Given the description of an element on the screen output the (x, y) to click on. 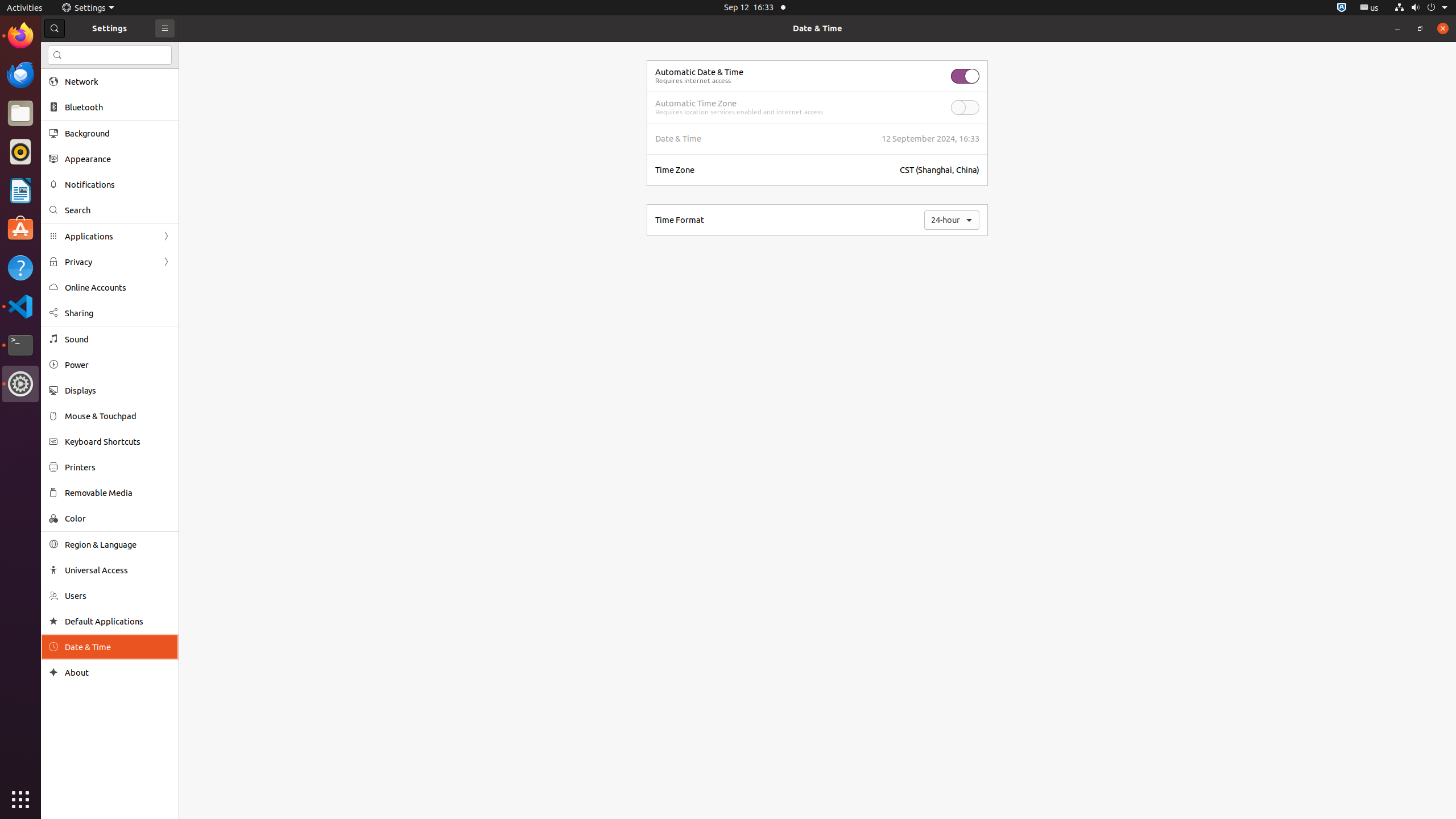
CST (Shanghai, China) Element type: label (939, 169)
edit-find-symbolic Element type: icon (56, 54)
Removable Media Element type: label (117, 492)
Search Element type: label (117, 209)
Firefox Web Browser Element type: push-button (20, 35)
